Given the description of an element on the screen output the (x, y) to click on. 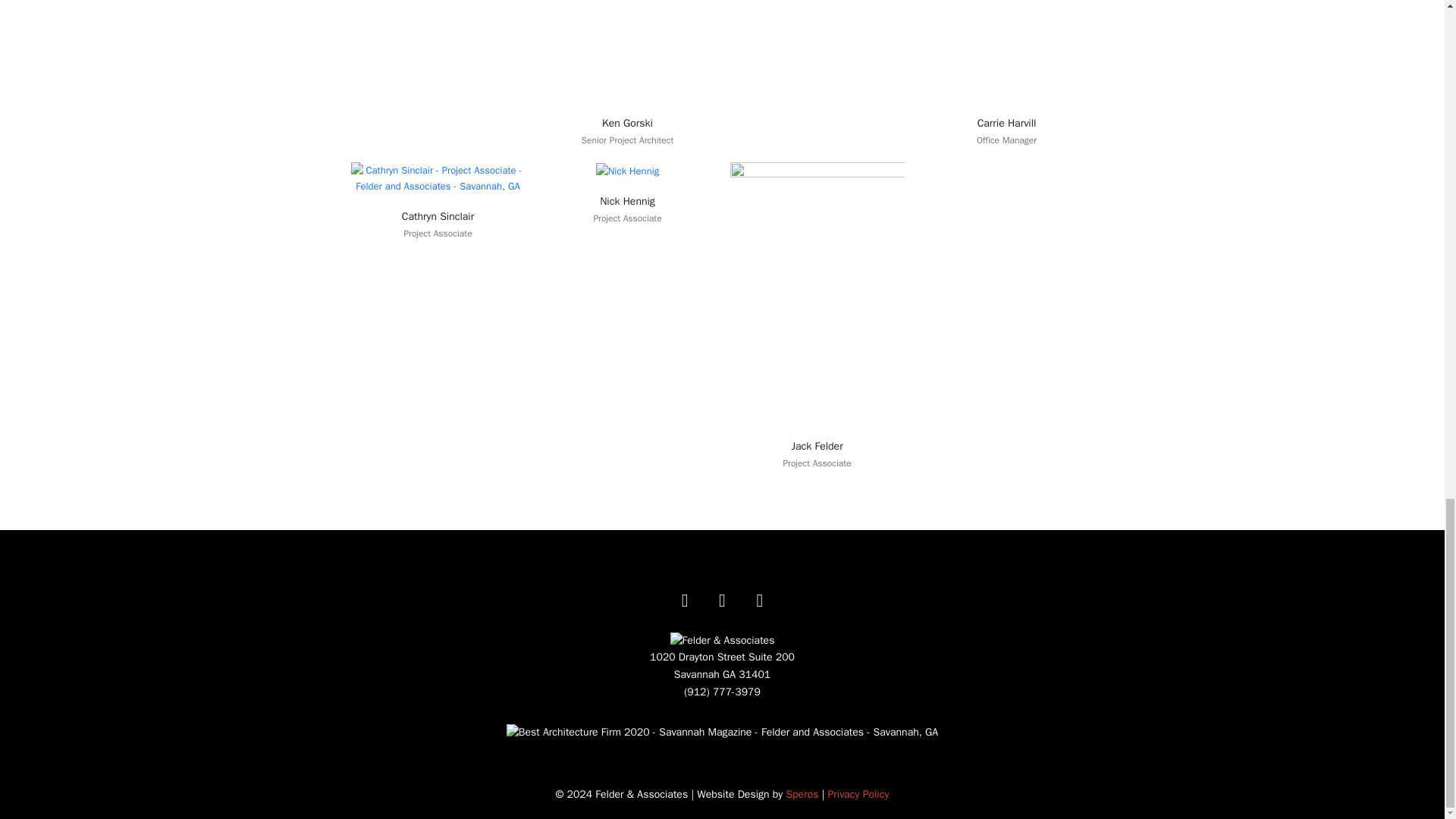
Ken Gorski (627, 123)
savannah-mag-best-of-2020 (721, 732)
Jack Felder (816, 445)
Houzz (721, 595)
Cathryn Sinclair (437, 215)
Houzz (721, 595)
Facebook (684, 595)
Nick Hennig (627, 169)
Speros (802, 793)
LinkedIn (759, 595)
LinkedIn (759, 595)
Carrie Harvill (1006, 123)
Privacy Policy (858, 793)
Jack Felder (816, 291)
Nick Hennig (627, 201)
